Given the description of an element on the screen output the (x, y) to click on. 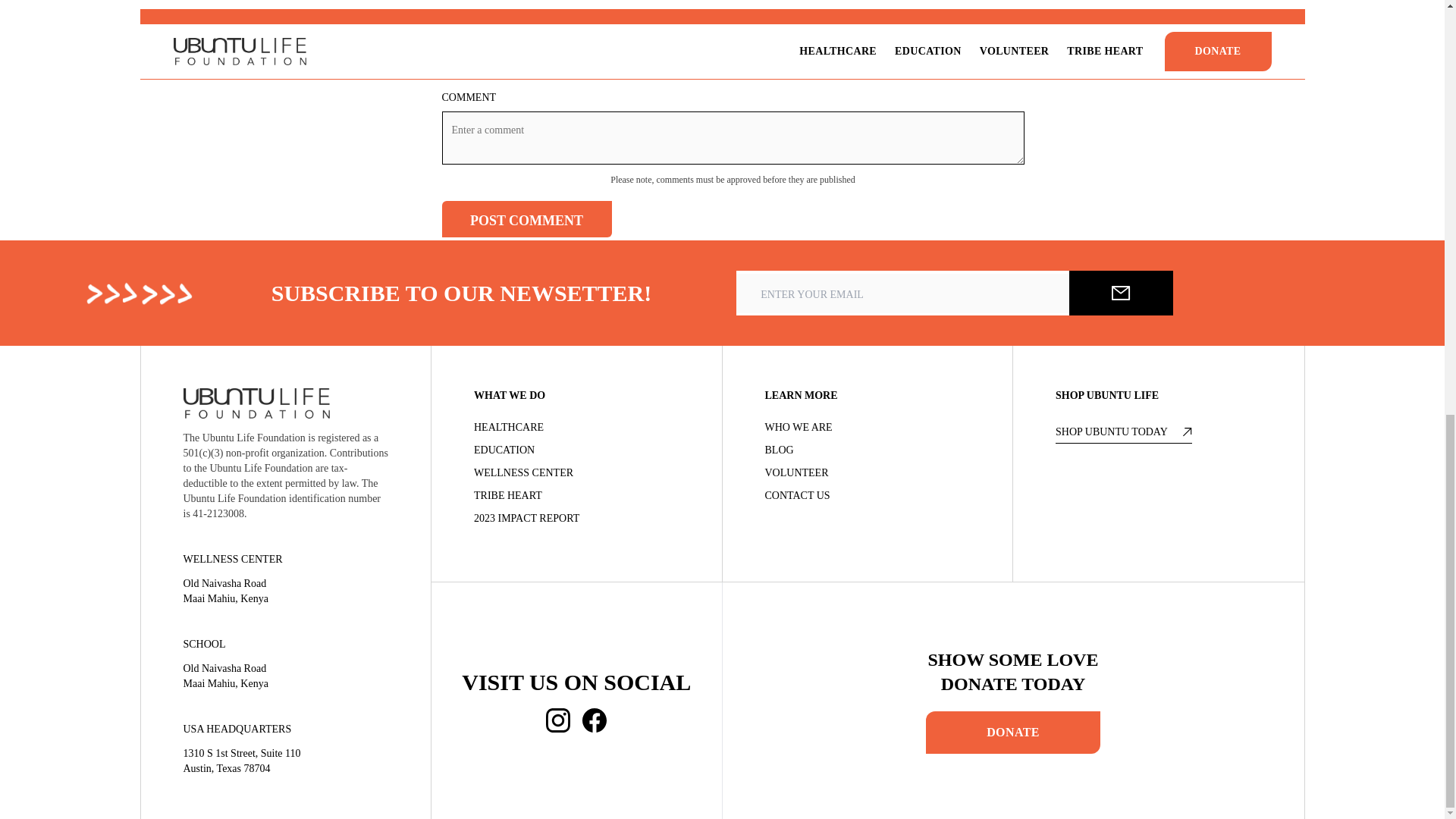
BLOG (866, 450)
TRIBE HEART (576, 495)
VOLUNTEER (866, 473)
EDUCATION (576, 450)
2023 IMPACT REPORT (576, 518)
WELLNESS CENTER (576, 473)
WHO WE ARE (866, 427)
HEALTHCARE (576, 427)
CONTACT US (866, 495)
DONATE (1013, 732)
